Given the description of an element on the screen output the (x, y) to click on. 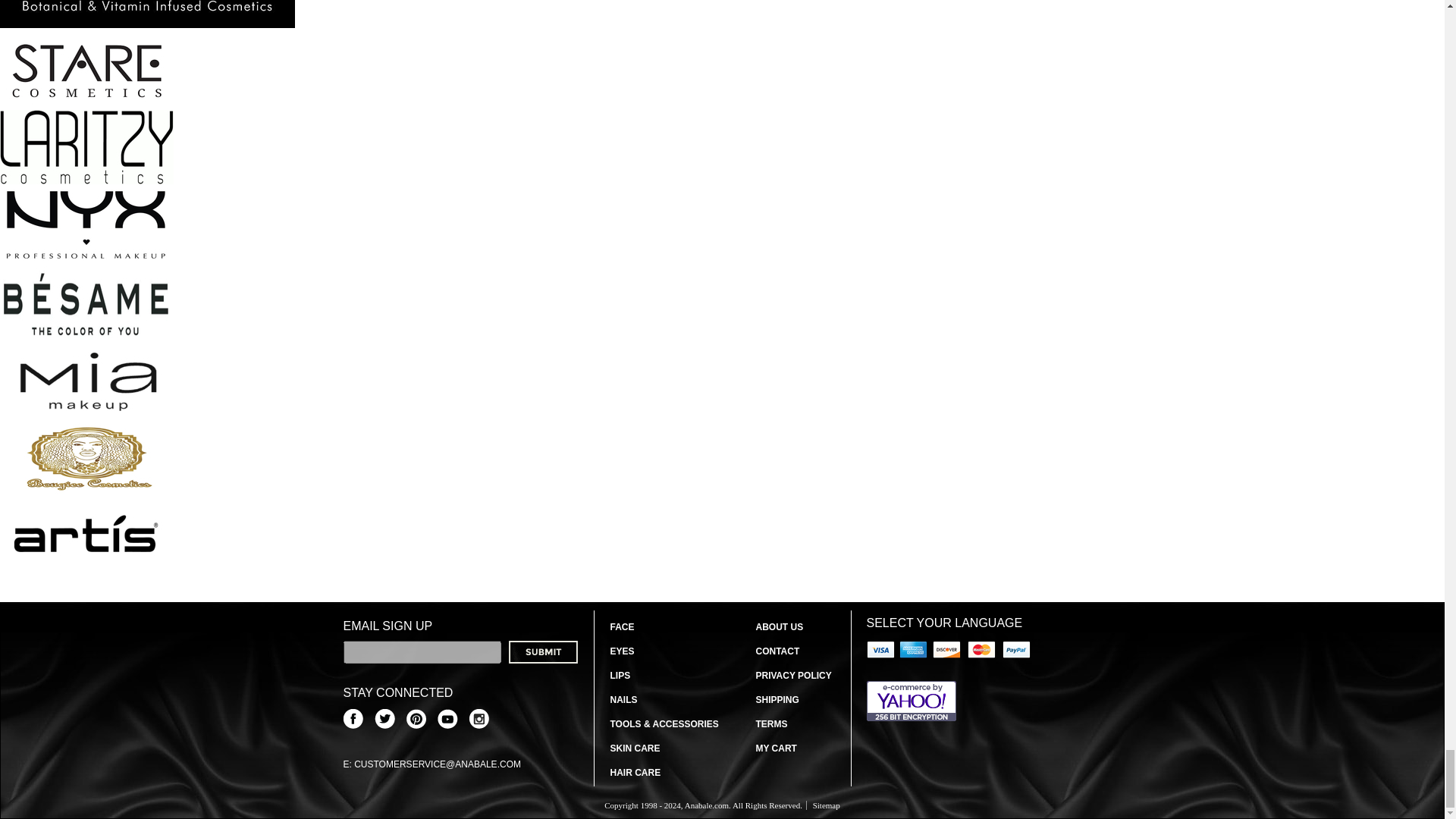
Submit (542, 651)
